Given the description of an element on the screen output the (x, y) to click on. 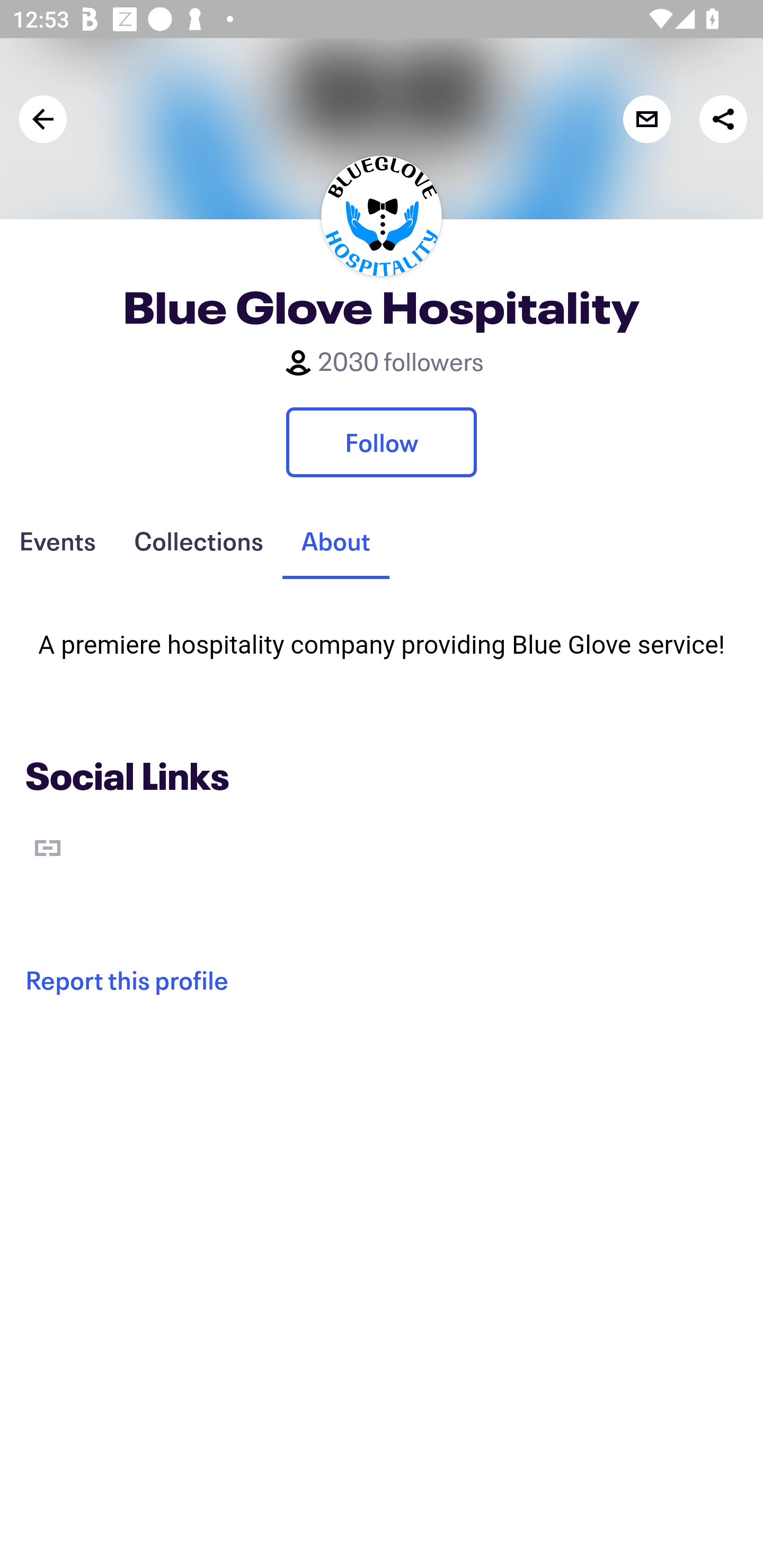
Back navigation arrow (43, 118)
Contact organizer (646, 118)
Share with friends (722, 118)
Follow (381, 441)
Events (57, 540)
Collections (198, 540)
Website (47, 848)
Report this profile (381, 979)
